Given the description of an element on the screen output the (x, y) to click on. 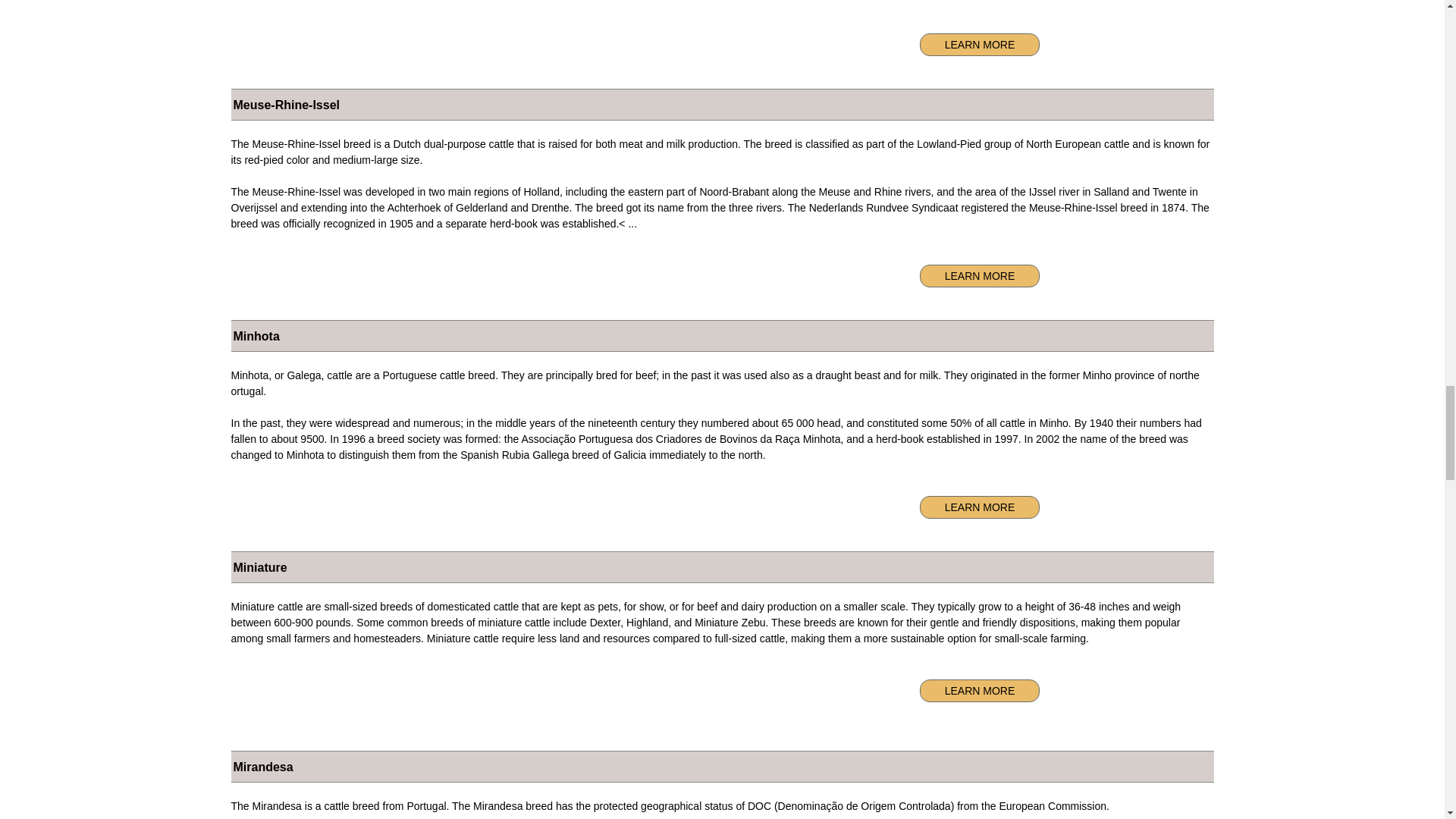
LEARN MORE (980, 507)
LEARN MORE (980, 275)
LEARN MORE (980, 690)
LEARN MORE (980, 44)
